Given the description of an element on the screen output the (x, y) to click on. 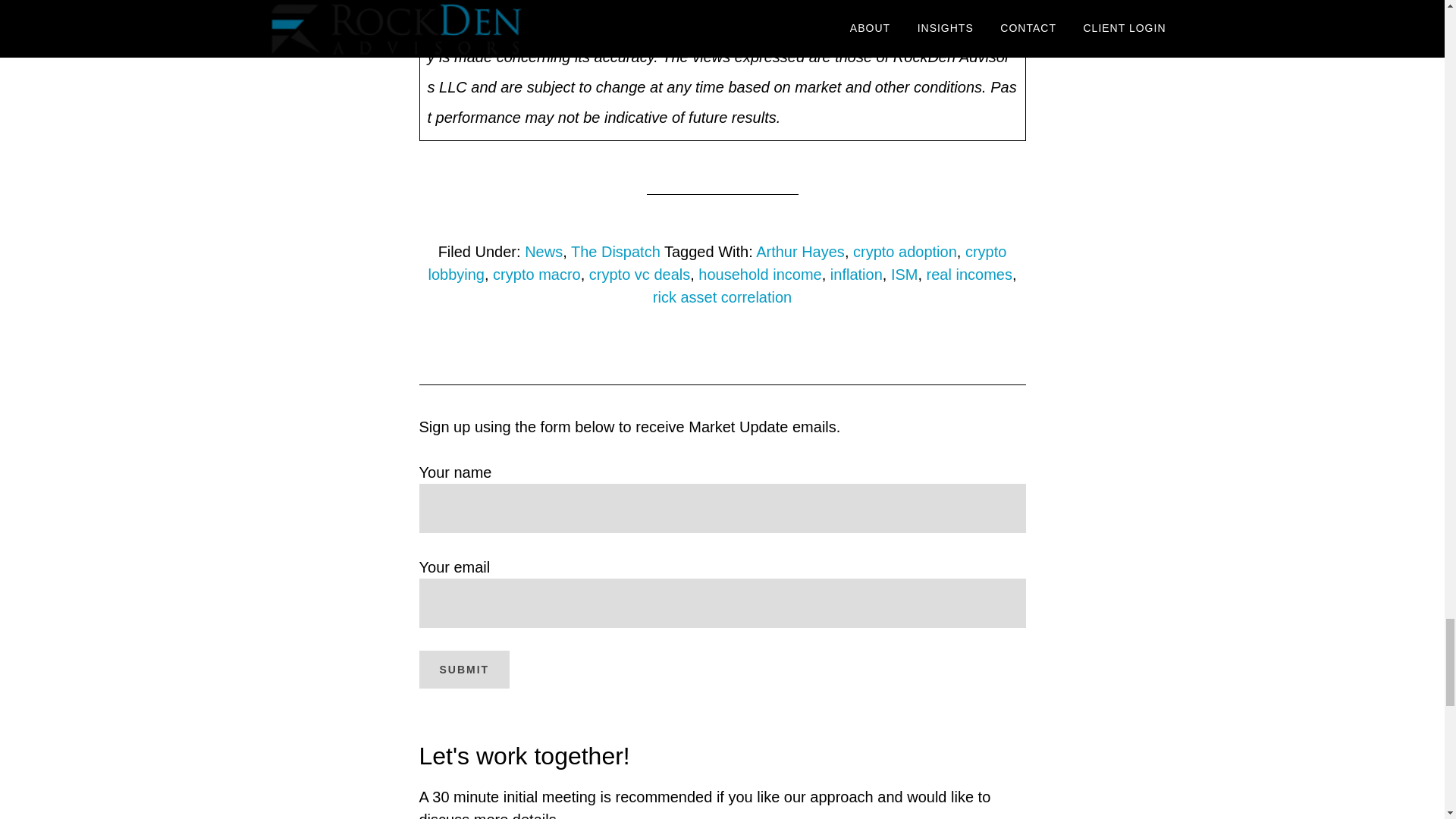
household income (759, 273)
inflation (855, 273)
ISM (904, 273)
Submit (464, 669)
crypto lobbying (717, 261)
rick asset correlation (722, 296)
The Dispatch (615, 250)
crypto macro (536, 273)
crypto adoption (904, 250)
Arthur Hayes (799, 250)
News (543, 250)
crypto vc deals (639, 273)
Submit (464, 669)
real incomes (968, 273)
